Given the description of an element on the screen output the (x, y) to click on. 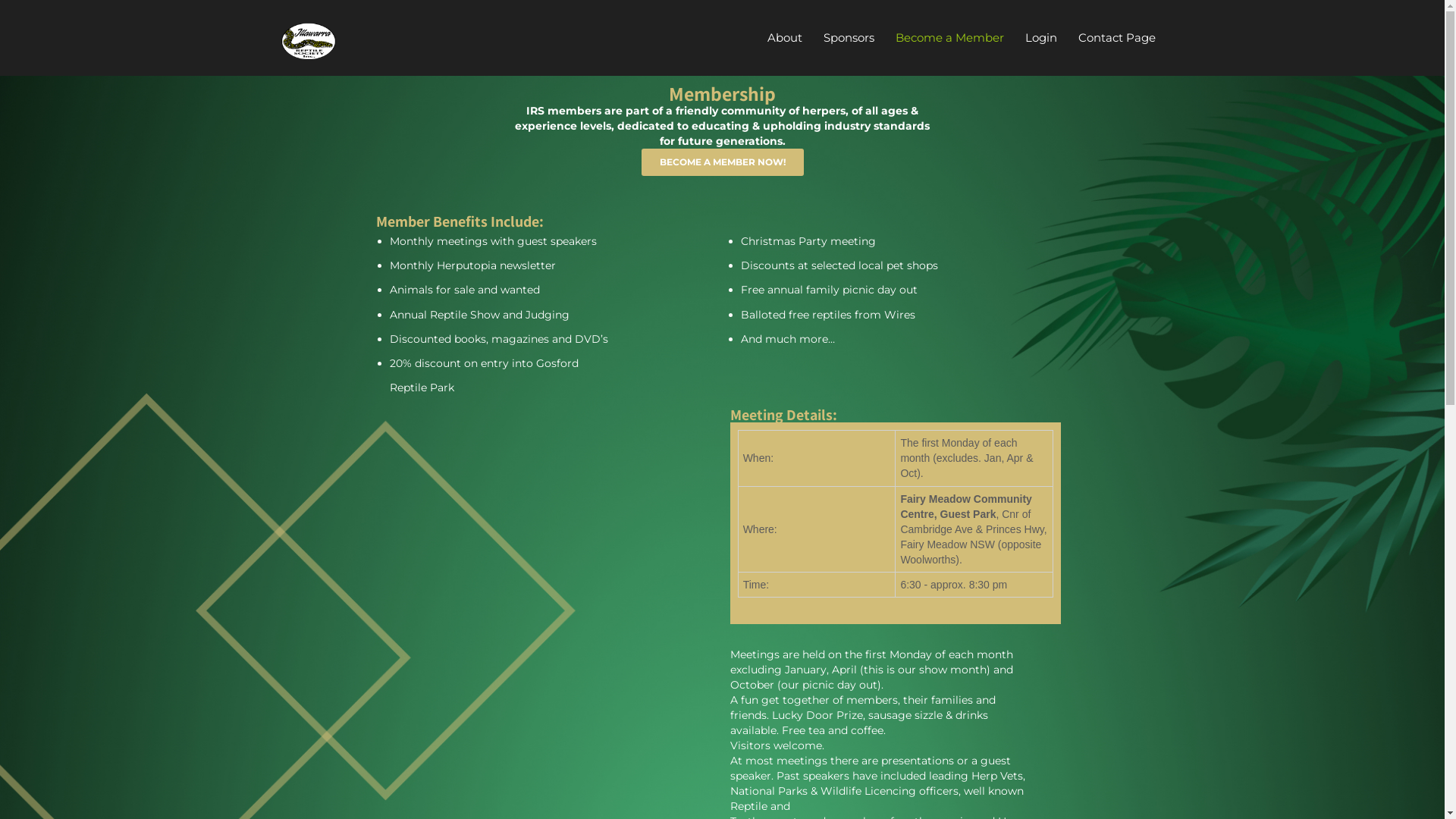
BECOME A MEMBER NOW! Element type: text (722, 161)
Sponsors Element type: text (848, 37)
Become a Member Element type: text (948, 37)
About Element type: text (784, 37)
Login Element type: text (1040, 37)
Contact Page Element type: text (1116, 37)
